Given the description of an element on the screen output the (x, y) to click on. 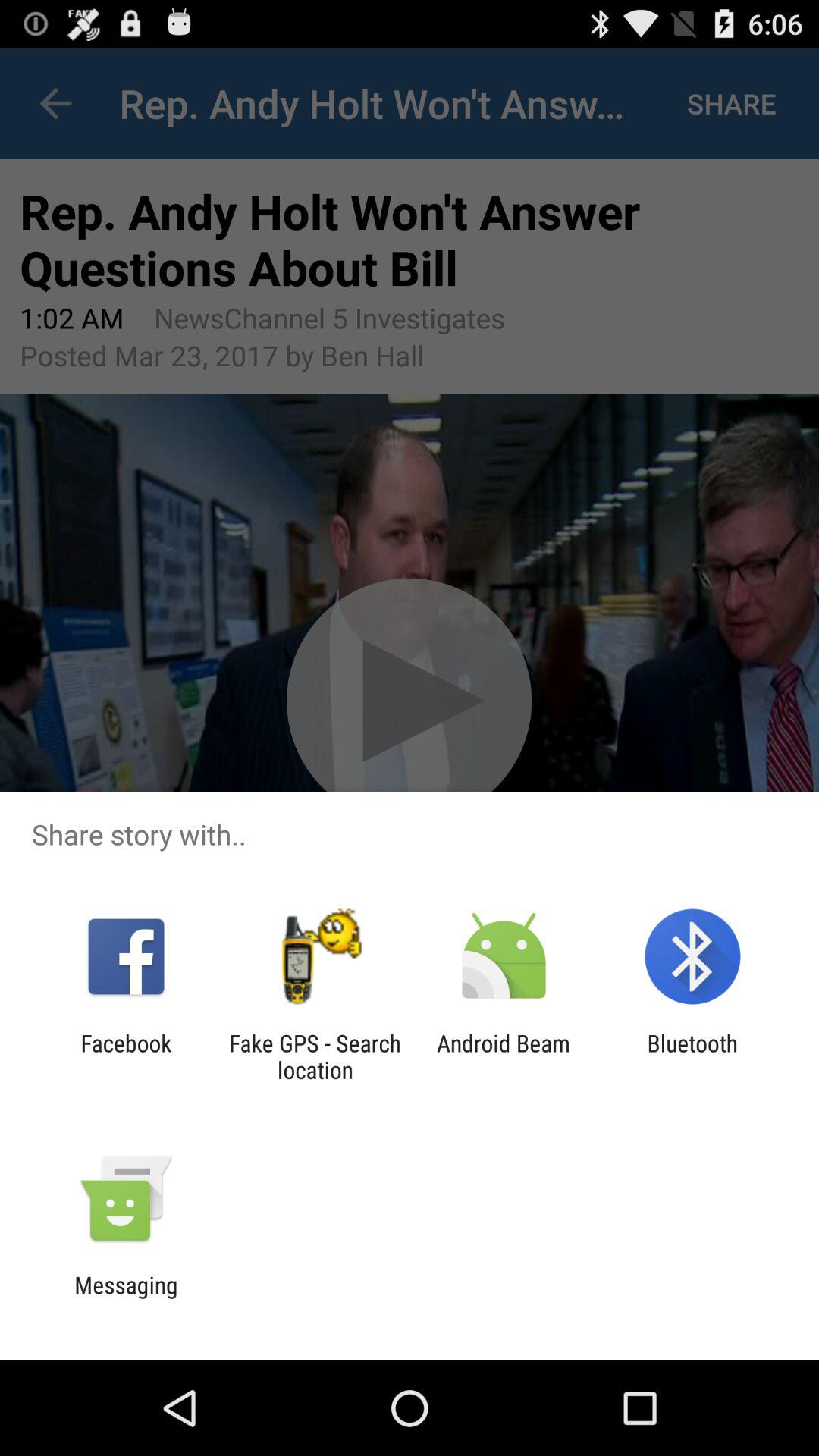
click the icon next to fake gps search icon (125, 1056)
